Given the description of an element on the screen output the (x, y) to click on. 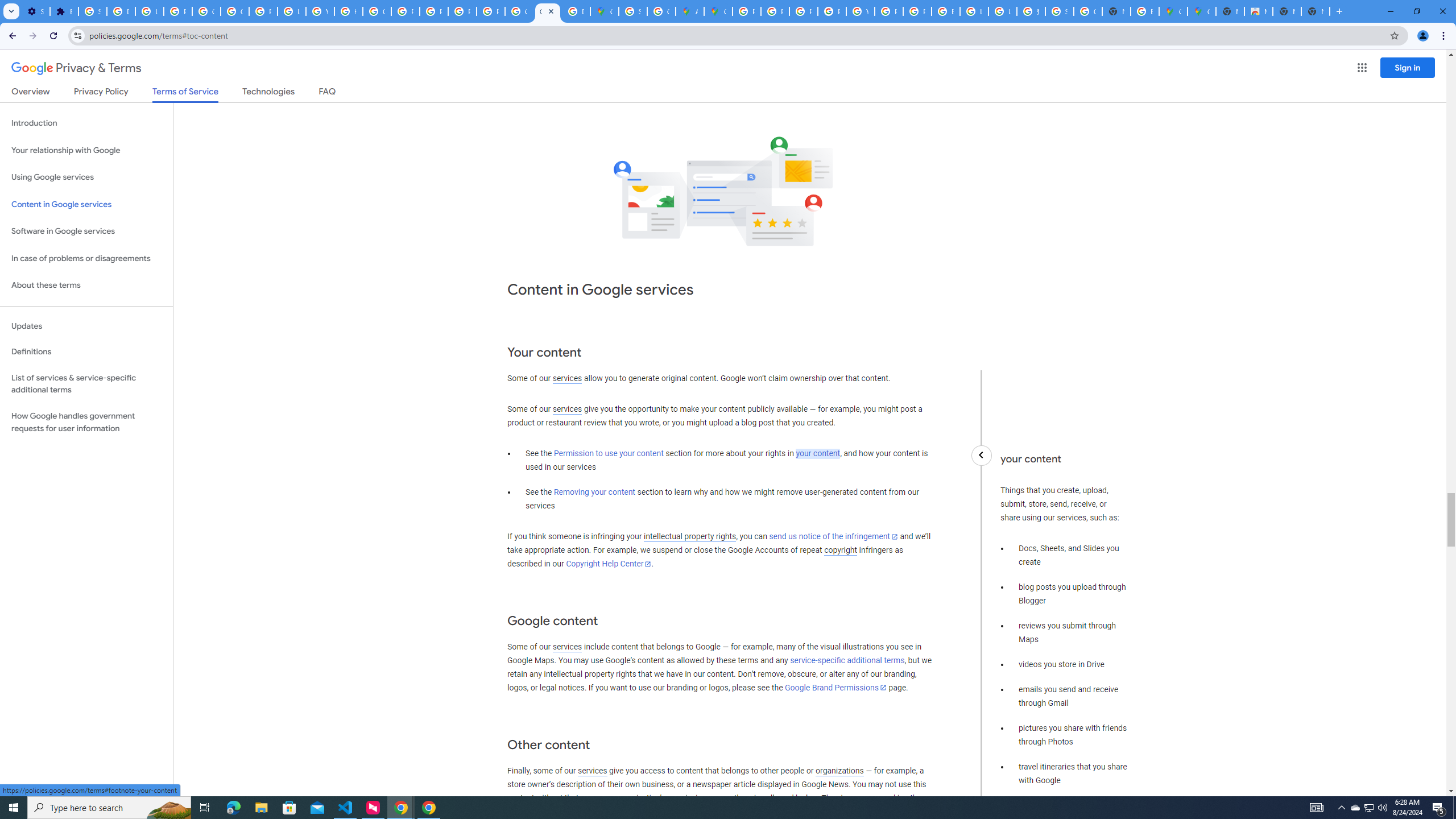
Google Account Help (206, 11)
Privacy Help Center - Policies Help (803, 11)
How Google handles government requests for user information (86, 422)
Your relationship with Google (86, 150)
YouTube (860, 11)
your content (817, 453)
Software in Google services (86, 230)
